Given the description of an element on the screen output the (x, y) to click on. 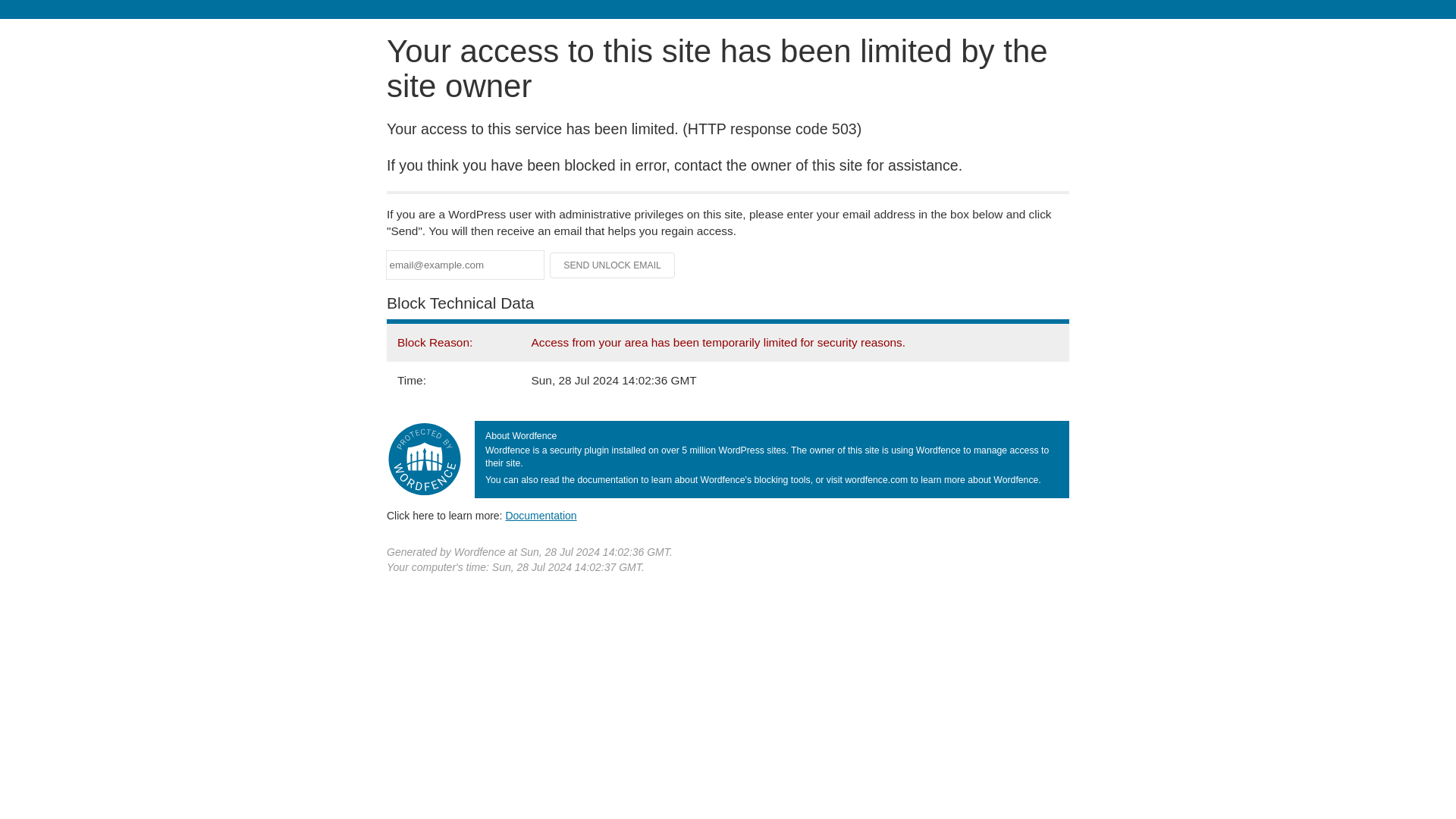
Send Unlock Email (612, 265)
Send Unlock Email (612, 265)
Documentation (540, 515)
